Given the description of an element on the screen output the (x, y) to click on. 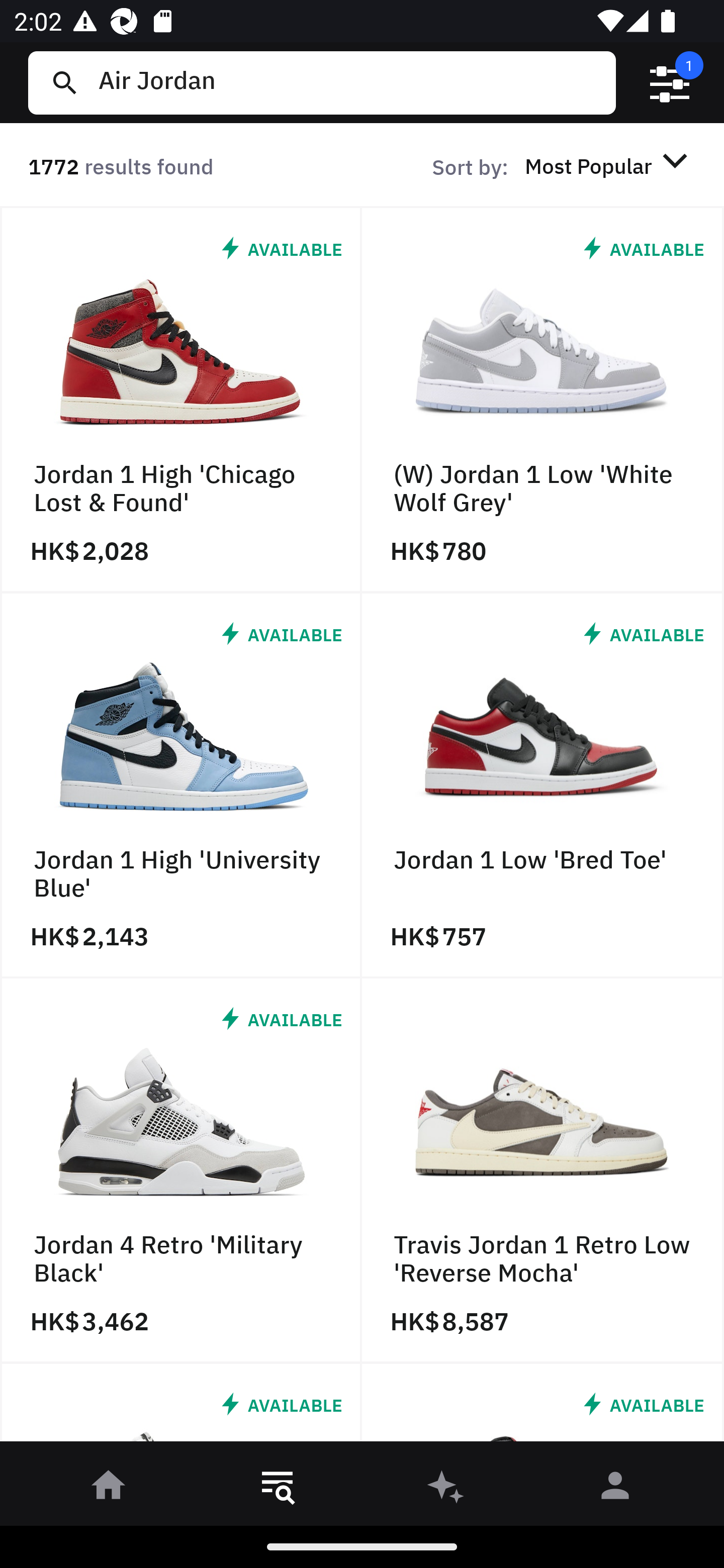
Air Jordan (349, 82)
 (669, 82)
Most Popular  (609, 165)
 AVAILABLE Jordan 1 Low 'Bred Toe' HK$ 757 (543, 785)
󰋜 (108, 1488)
󱎸 (277, 1488)
󰫢 (446, 1488)
󰀄 (615, 1488)
